Given the description of an element on the screen output the (x, y) to click on. 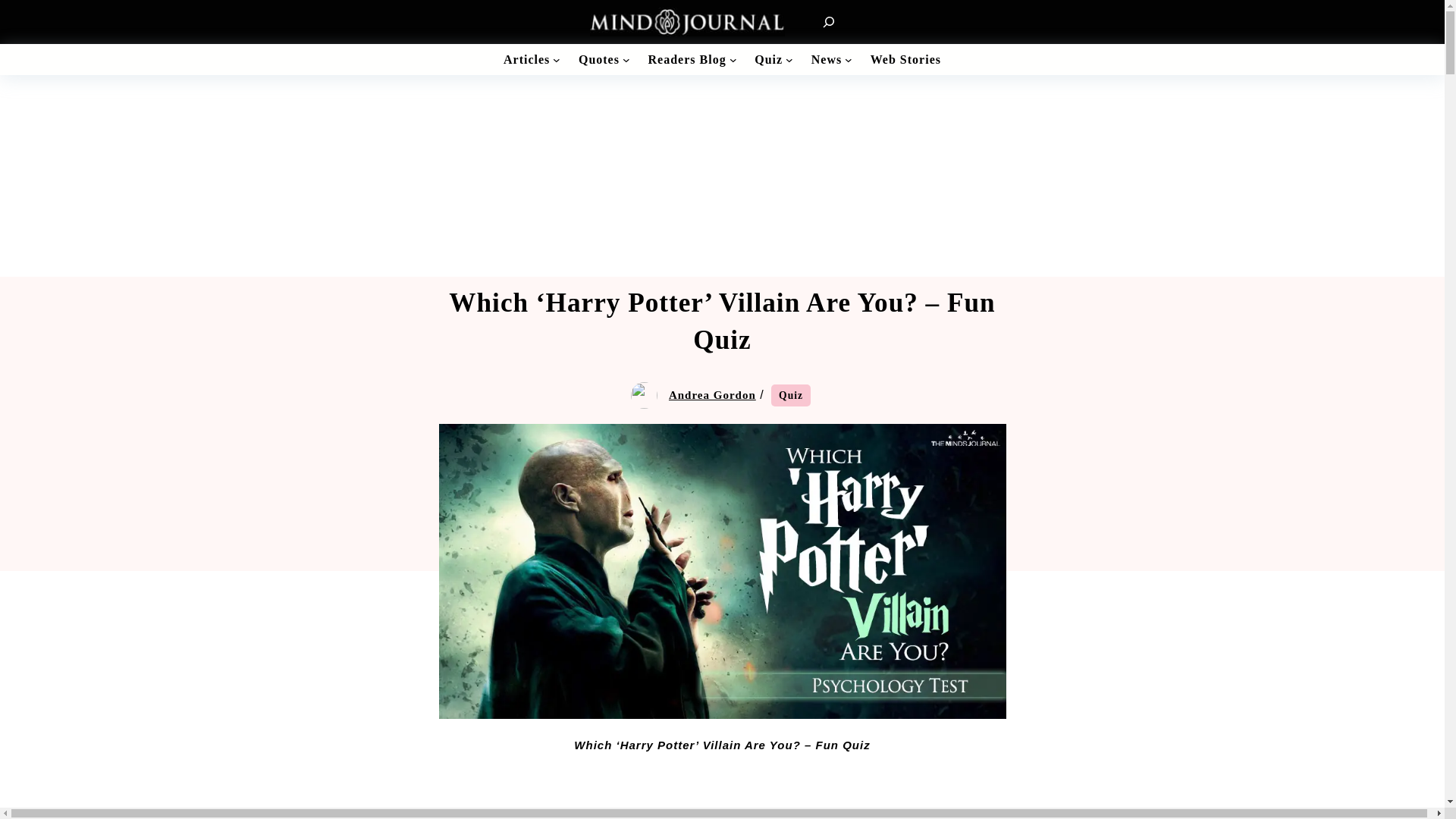
Advertisement (722, 797)
